Given the description of an element on the screen output the (x, y) to click on. 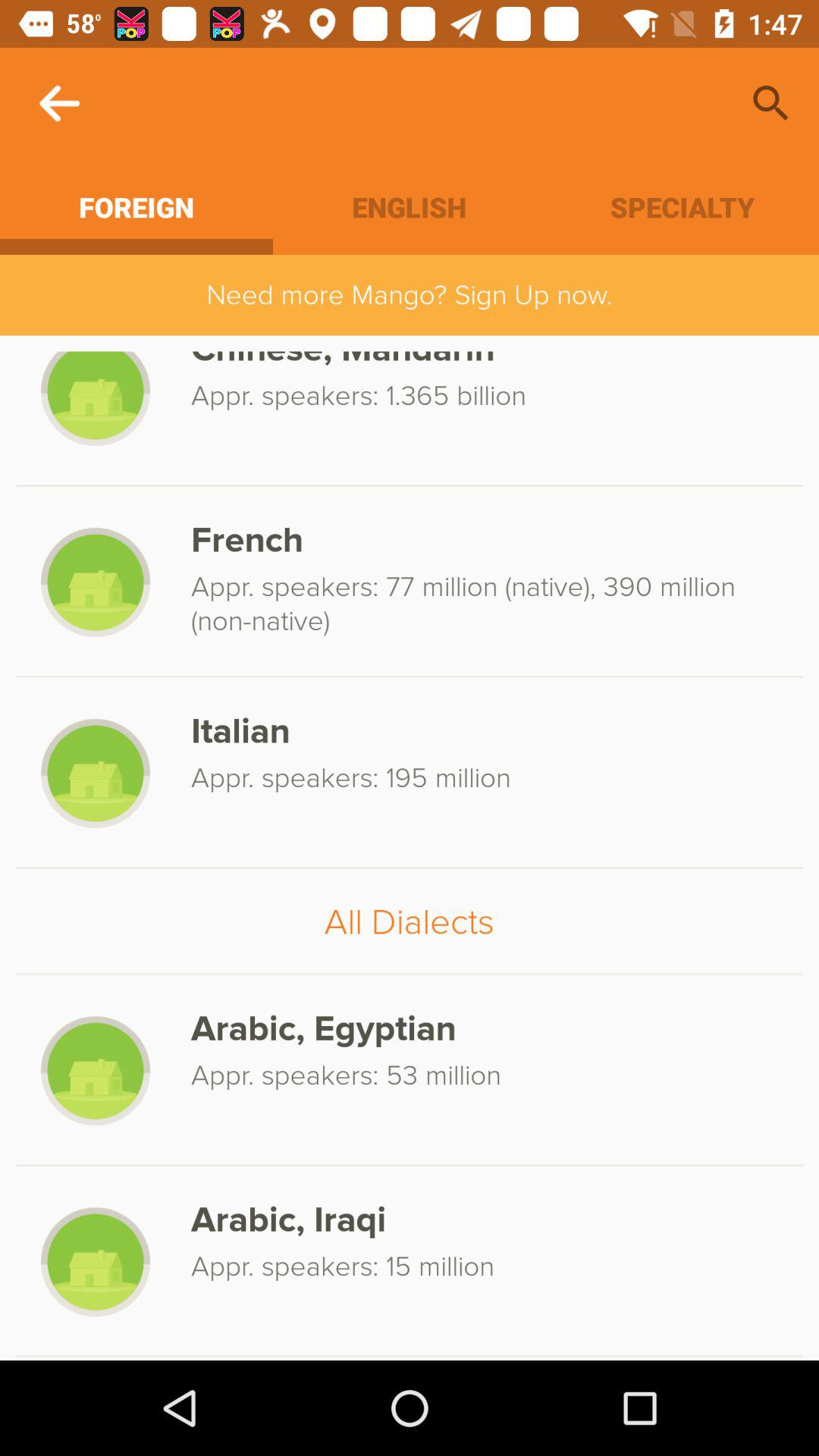
flip to need more mango (409, 294)
